Given the description of an element on the screen output the (x, y) to click on. 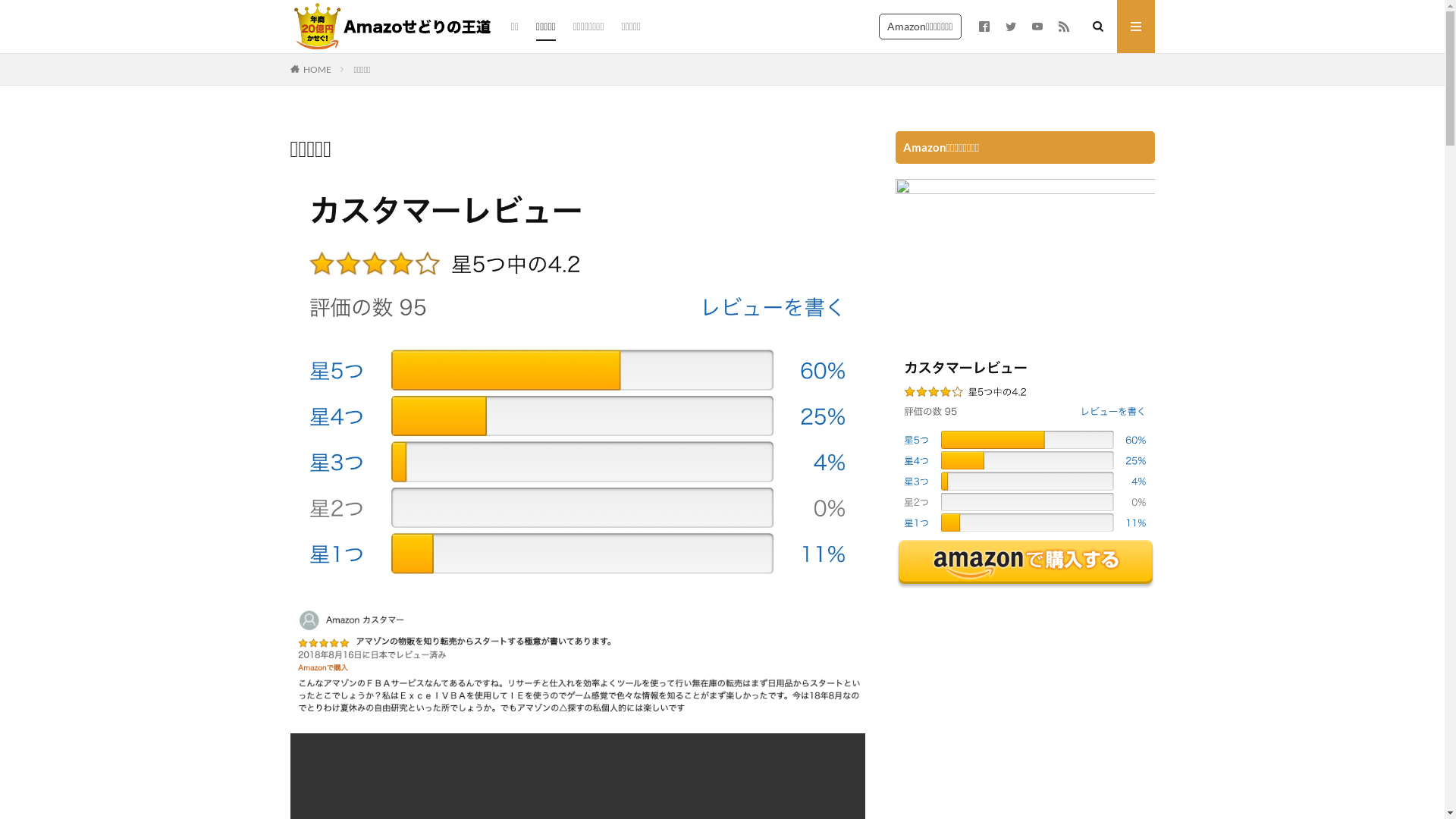
search Element type: text (716, 135)
HOME Element type: text (317, 69)
